Given the description of an element on the screen output the (x, y) to click on. 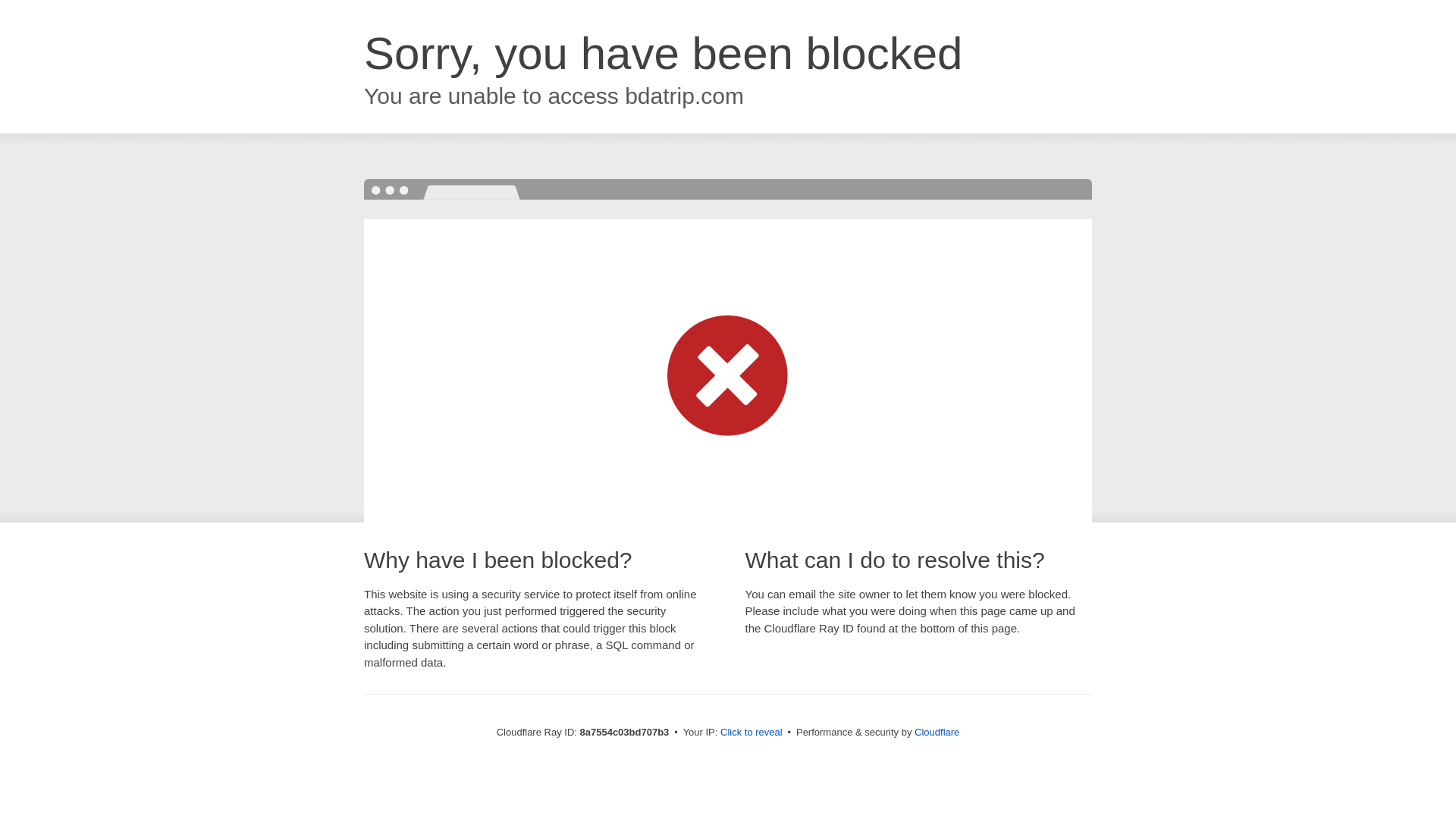
Cloudflare (936, 731)
Click to reveal (751, 732)
